Given the description of an element on the screen output the (x, y) to click on. 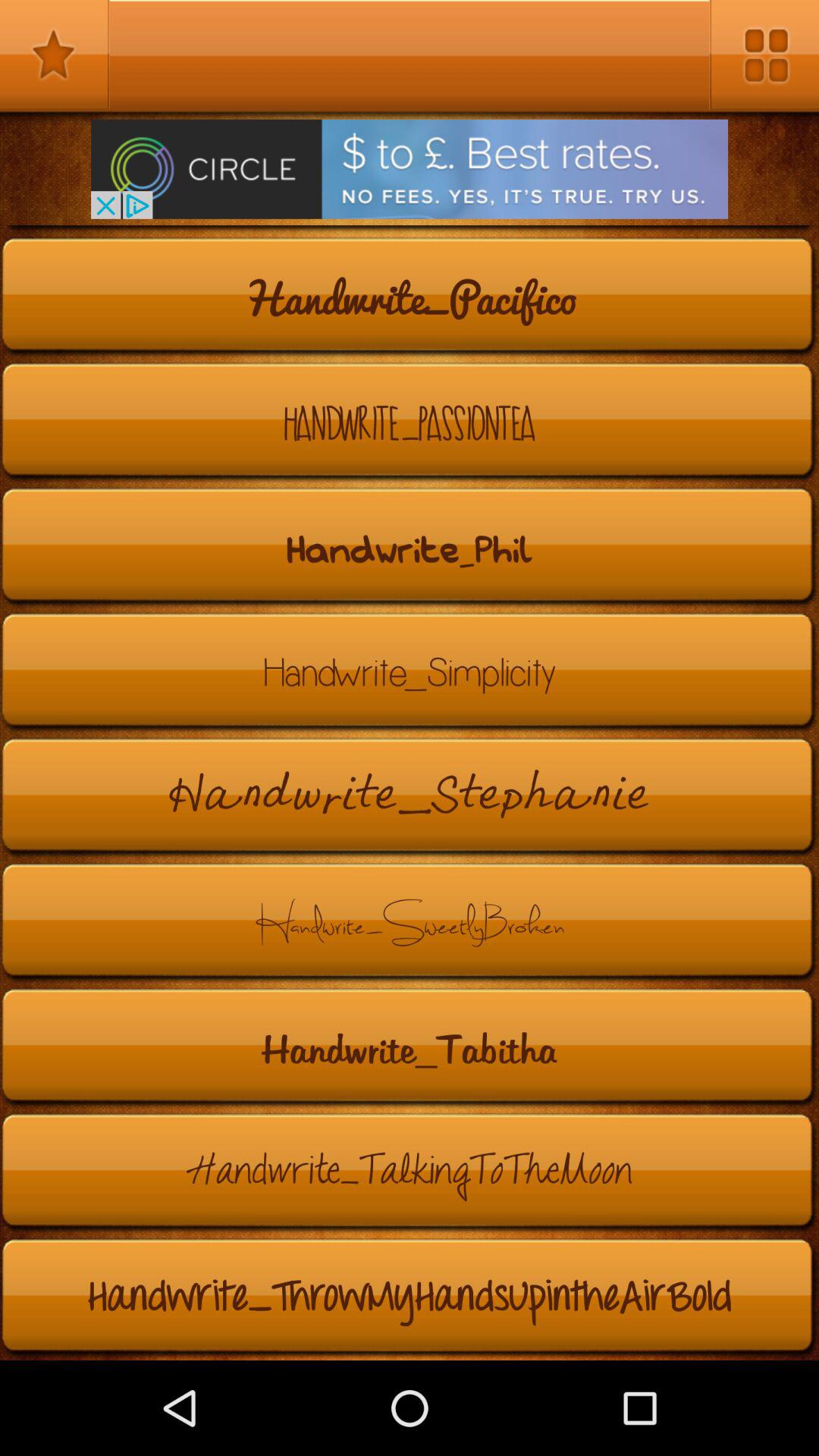
view favorites (54, 54)
